Given the description of an element on the screen output the (x, y) to click on. 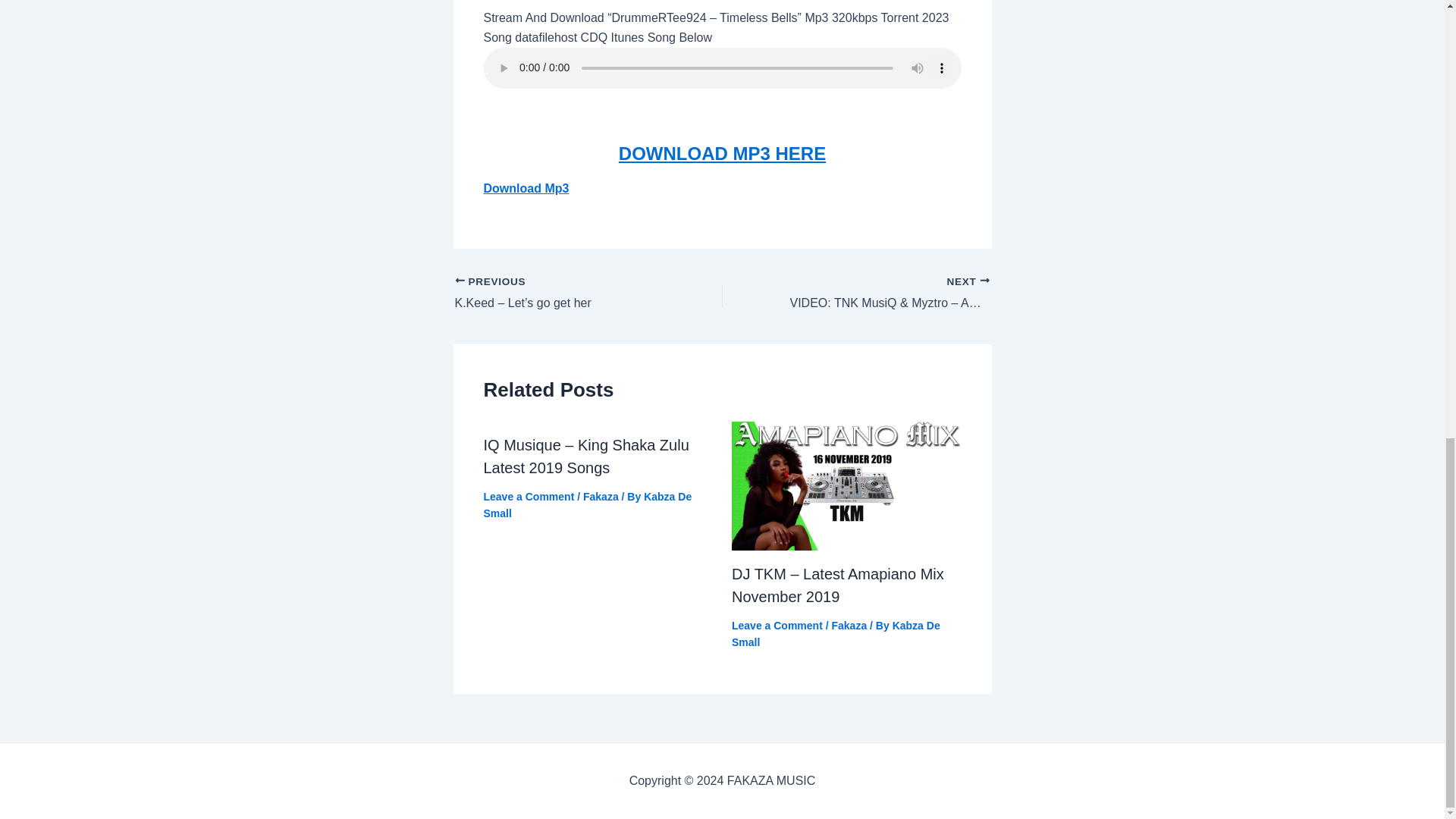
View all posts by Kabza De Small (588, 504)
Kabza De Small (836, 633)
Download Mp3 (526, 187)
Fakaza (848, 625)
View all posts by Kabza De Small (836, 633)
DOWNLOAD MP3 HERE (721, 153)
Kabza De Small (588, 504)
Leave a Comment (529, 496)
Fakaza (600, 496)
Leave a Comment (777, 625)
